Given the description of an element on the screen output the (x, y) to click on. 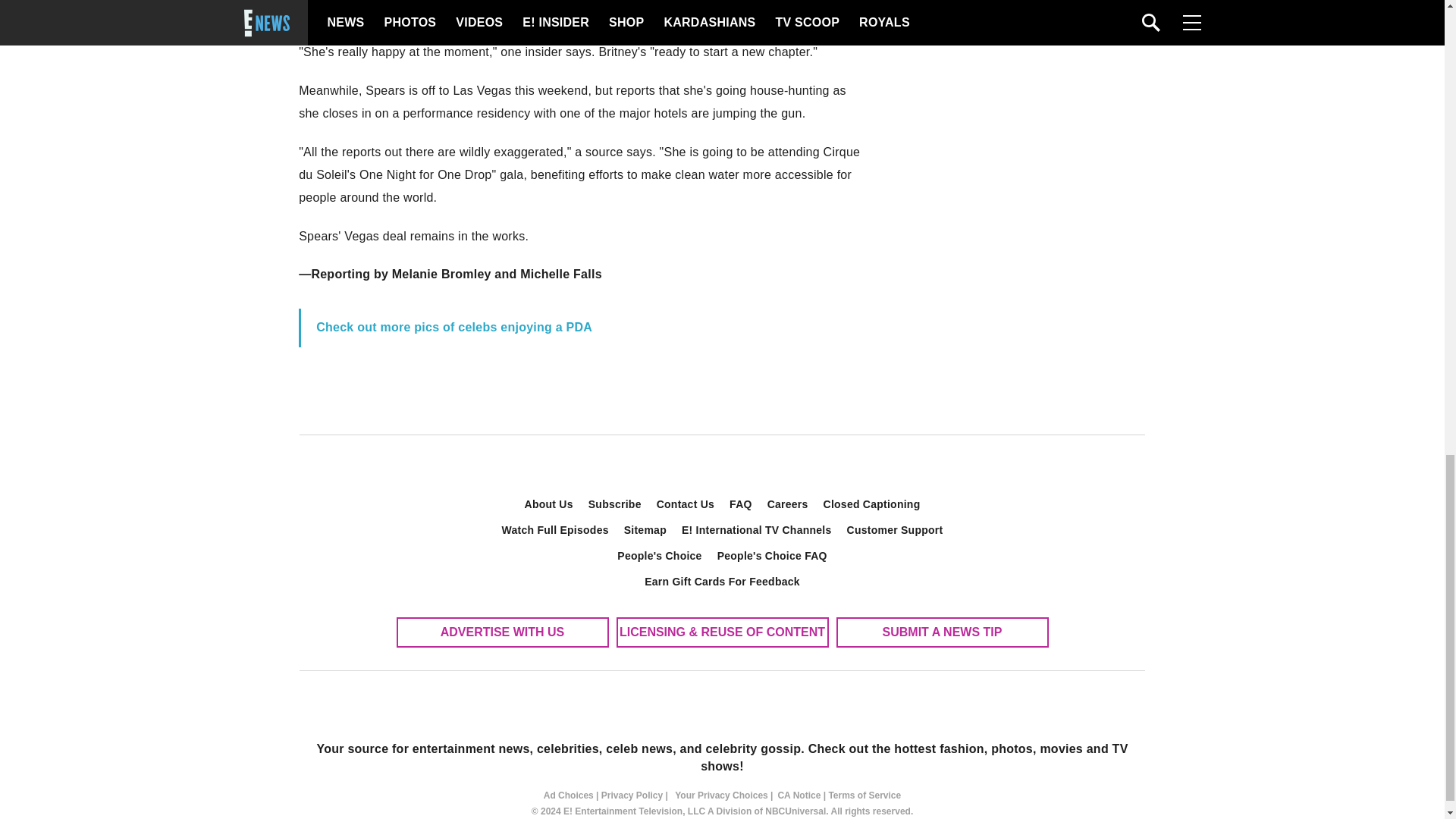
FAQ (741, 503)
About Us (548, 503)
E! International TV Channels (757, 529)
Watch Full Episodes (555, 529)
Customer Support (895, 529)
Subscribe (614, 503)
Closed Captioning (871, 503)
Contact Us (685, 503)
Careers (787, 503)
Sitemap (644, 529)
